Given the description of an element on the screen output the (x, y) to click on. 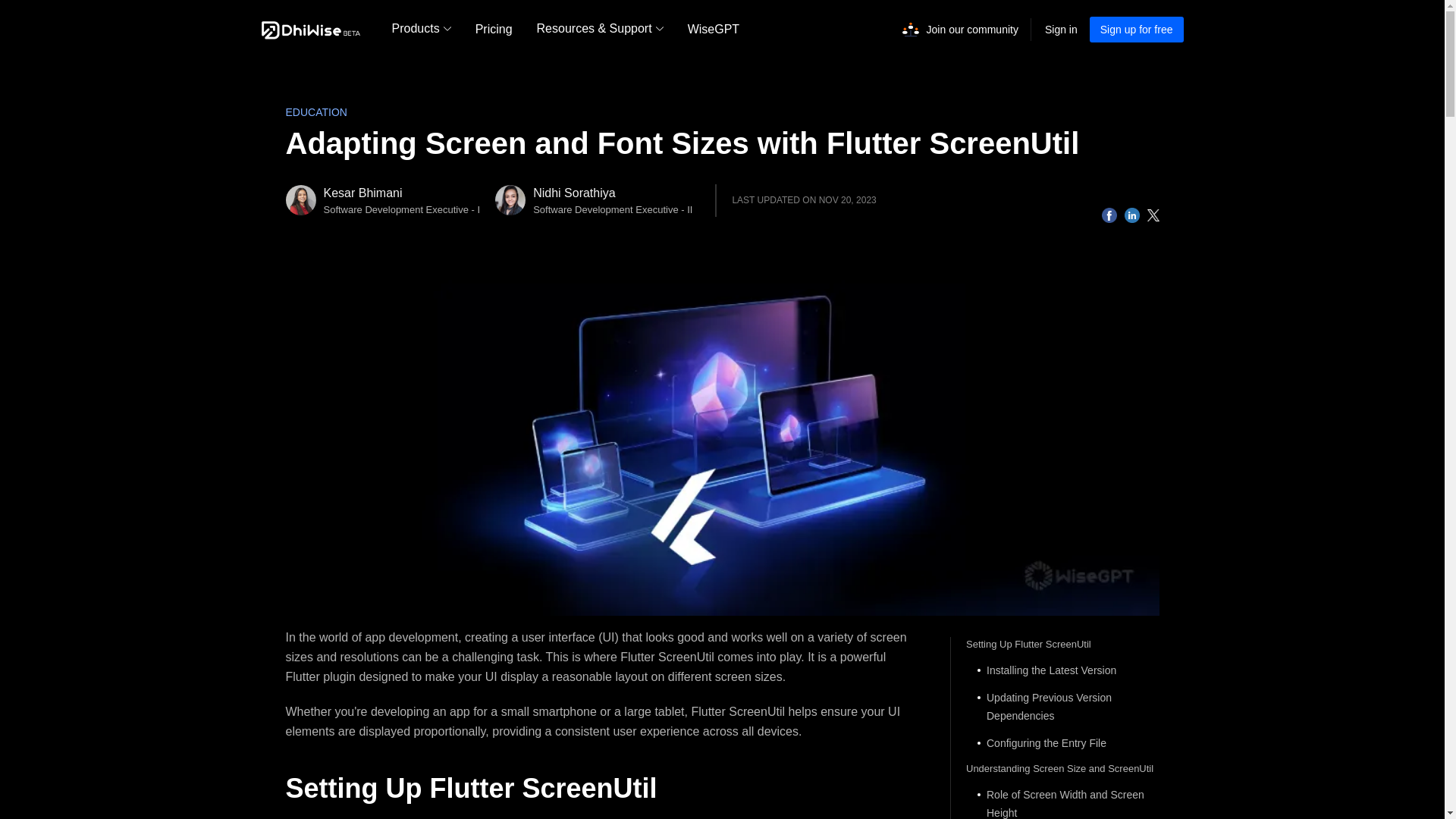
Configuring the Entry File (1062, 742)
Setting Up Flutter ScreenUtil (1062, 644)
Tweet (1152, 215)
Pricing (493, 29)
Share on LinkedIn (1131, 215)
WiseGPT (713, 29)
Installing the Latest Version (1062, 669)
Sign up for free (1136, 29)
Updating Previous Version Dependencies (1062, 706)
Share on Facebook (1108, 215)
Join our community (972, 29)
Role of Screen Width and Screen Height (1062, 802)
Sign in (1061, 29)
Understanding Screen Size and ScreenUtil (1062, 768)
